Given the description of an element on the screen output the (x, y) to click on. 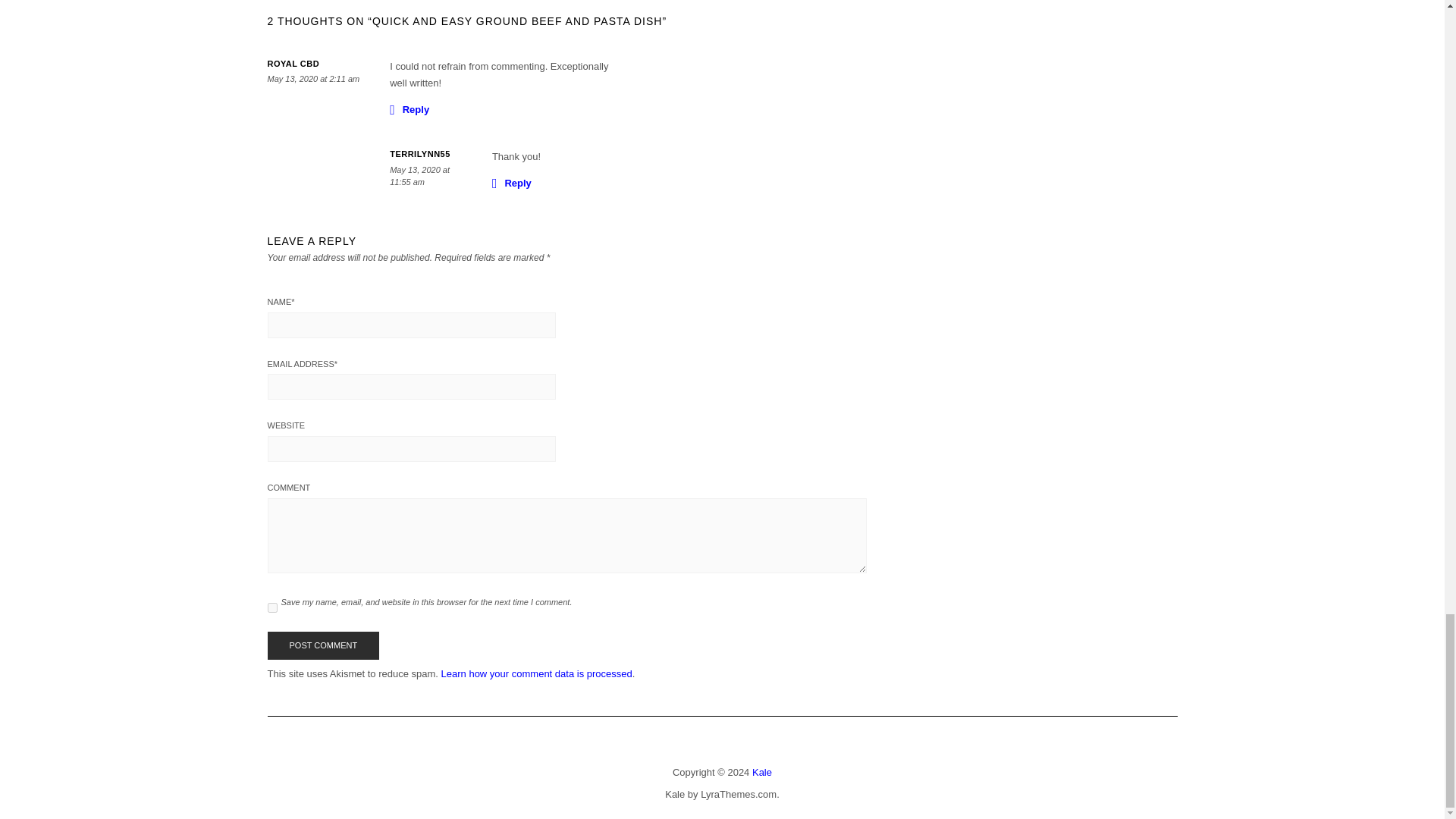
Post Comment (322, 645)
yes (271, 607)
May 13, 2020 at 11:55 am (419, 175)
Reply (409, 108)
Learn how your comment data is processed (536, 673)
May 13, 2020 at 2:11 am (312, 78)
Post Comment (322, 645)
Reply (511, 182)
